Given the description of an element on the screen output the (x, y) to click on. 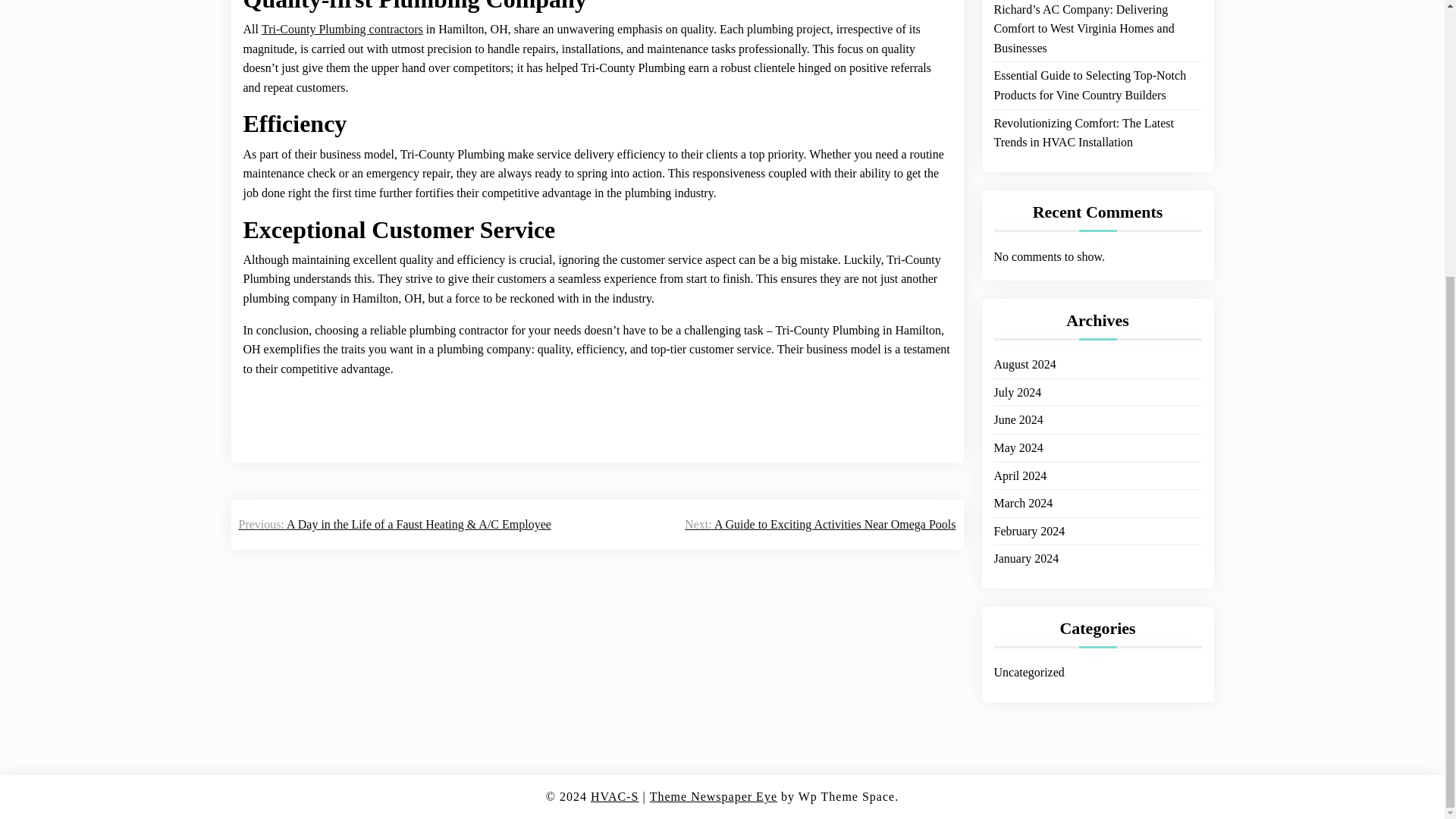
Uncategorized (1028, 654)
Next: A Guide to Exciting Activities Near Omega Pools (819, 524)
July 2024 (1016, 374)
Tri-County Plumbing contractors (342, 29)
May 2024 (1017, 429)
January 2024 (1025, 540)
February 2024 (1028, 513)
HVAC-S (615, 796)
August 2024 (1023, 346)
